Given the description of an element on the screen output the (x, y) to click on. 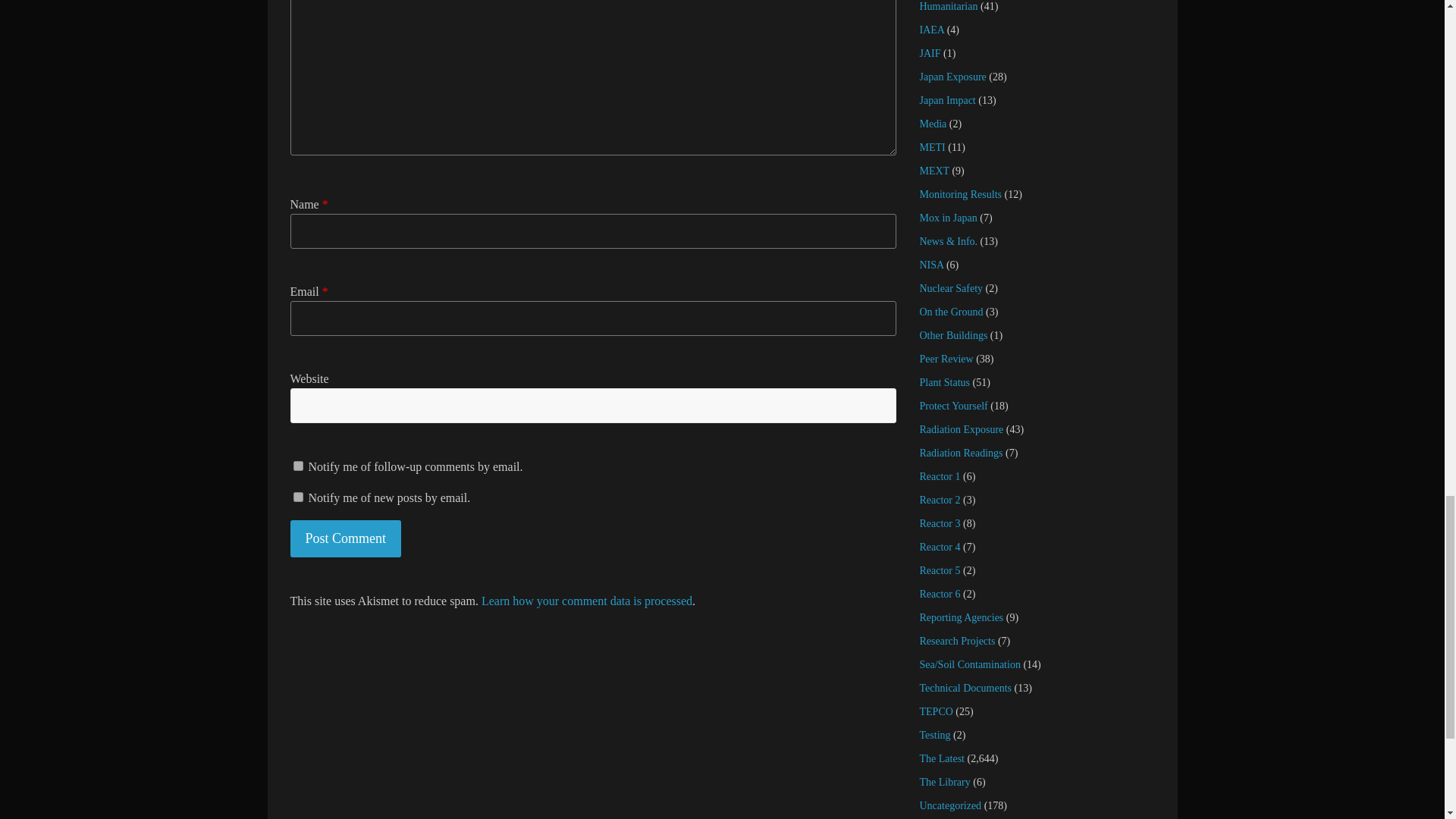
Post Comment (345, 538)
subscribe (297, 497)
subscribe (297, 465)
